Given the description of an element on the screen output the (x, y) to click on. 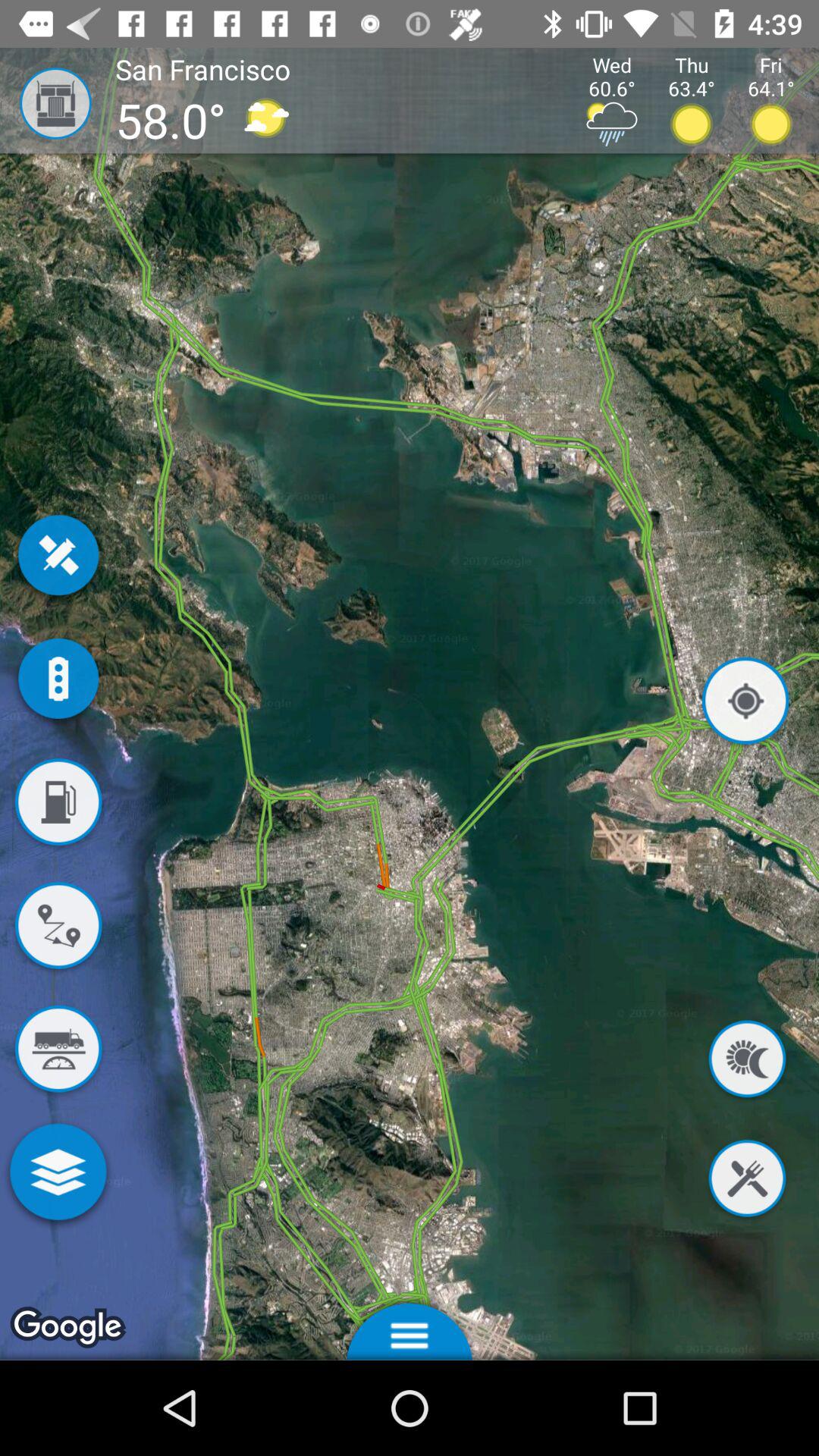
show access to heavy veicle (57, 1051)
